Given the description of an element on the screen output the (x, y) to click on. 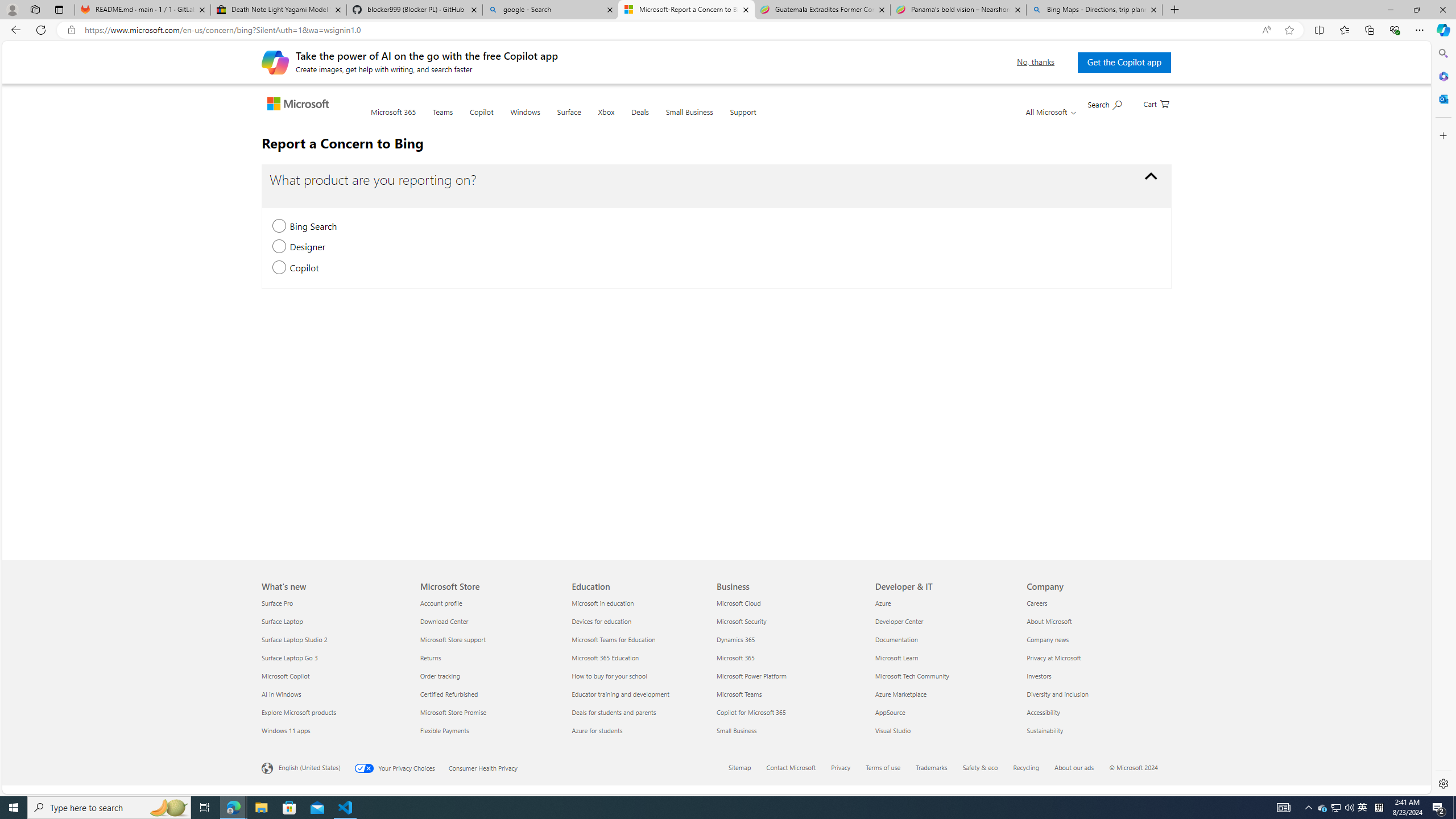
Microsoft Security (788, 620)
What product are you reporting on? no option selected (1150, 175)
Copilot, new section will be expanded (279, 268)
Microsoft Teams for Education Education (613, 638)
Surface (568, 118)
Xbox (606, 118)
Windows (524, 118)
Explore Microsoft products (334, 711)
Privacy at Microsoft Company (1053, 656)
Account profile Microsoft Store (441, 602)
Microsoft Tech Community (944, 675)
Microsoft Store support Microsoft Store (452, 638)
